Given the description of an element on the screen output the (x, y) to click on. 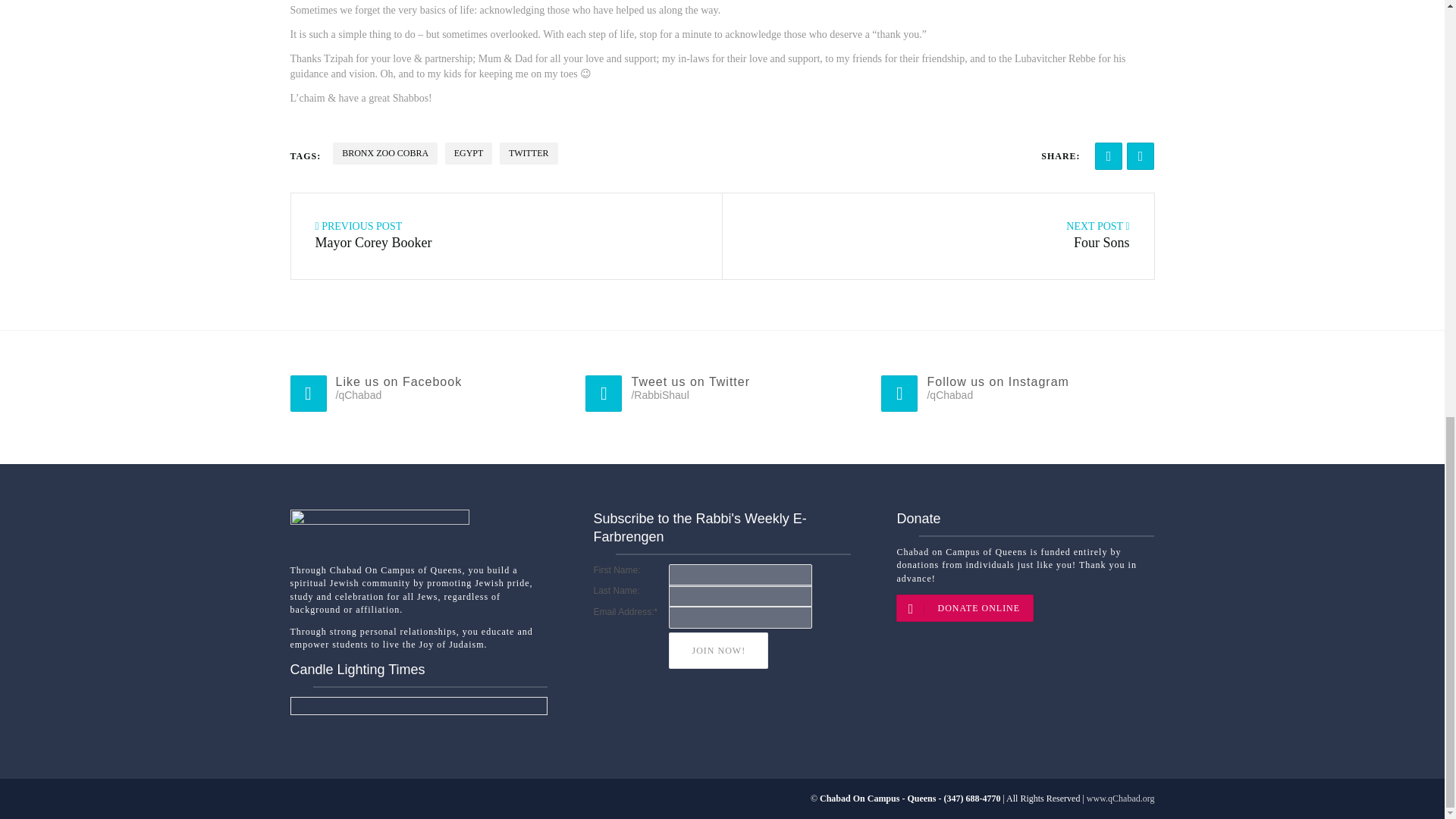
Join now! (718, 649)
Tweet (1140, 155)
Share on Facebook (1108, 155)
